Given the description of an element on the screen output the (x, y) to click on. 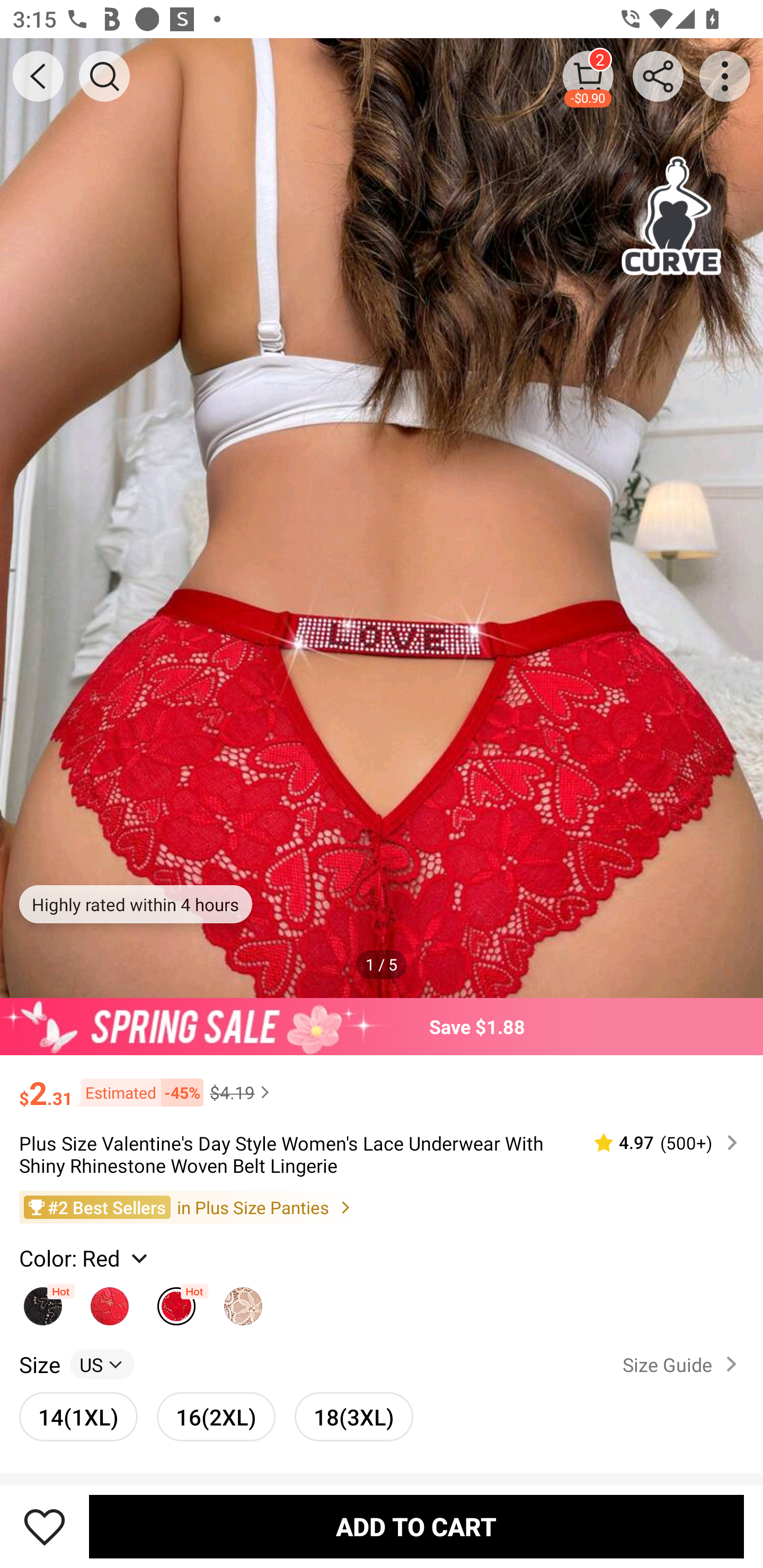
BACK (38, 75)
2 -$0.90 (588, 75)
1 / 5 (381, 964)
Save $1.88 (381, 1026)
$2.31 Estimated -45% $4.19 (381, 1084)
Estimated -45% (137, 1092)
$4.19 (241, 1091)
4.97 (500‎+) (658, 1142)
#2 Best Sellers in Plus Size Panties (381, 1206)
Color: Red (85, 1258)
Black (42, 1301)
Burgundy (109, 1301)
Red (176, 1301)
White (242, 1301)
Size (39, 1363)
US (102, 1363)
Size Guide (682, 1363)
14(1XL) 14(1XL)unselected option (78, 1416)
16(2XL) 16(2XL)unselected option (216, 1416)
18(3XL) 18(3XL)unselected option (353, 1416)
ADD TO CART (416, 1526)
Save (44, 1526)
